Given the description of an element on the screen output the (x, y) to click on. 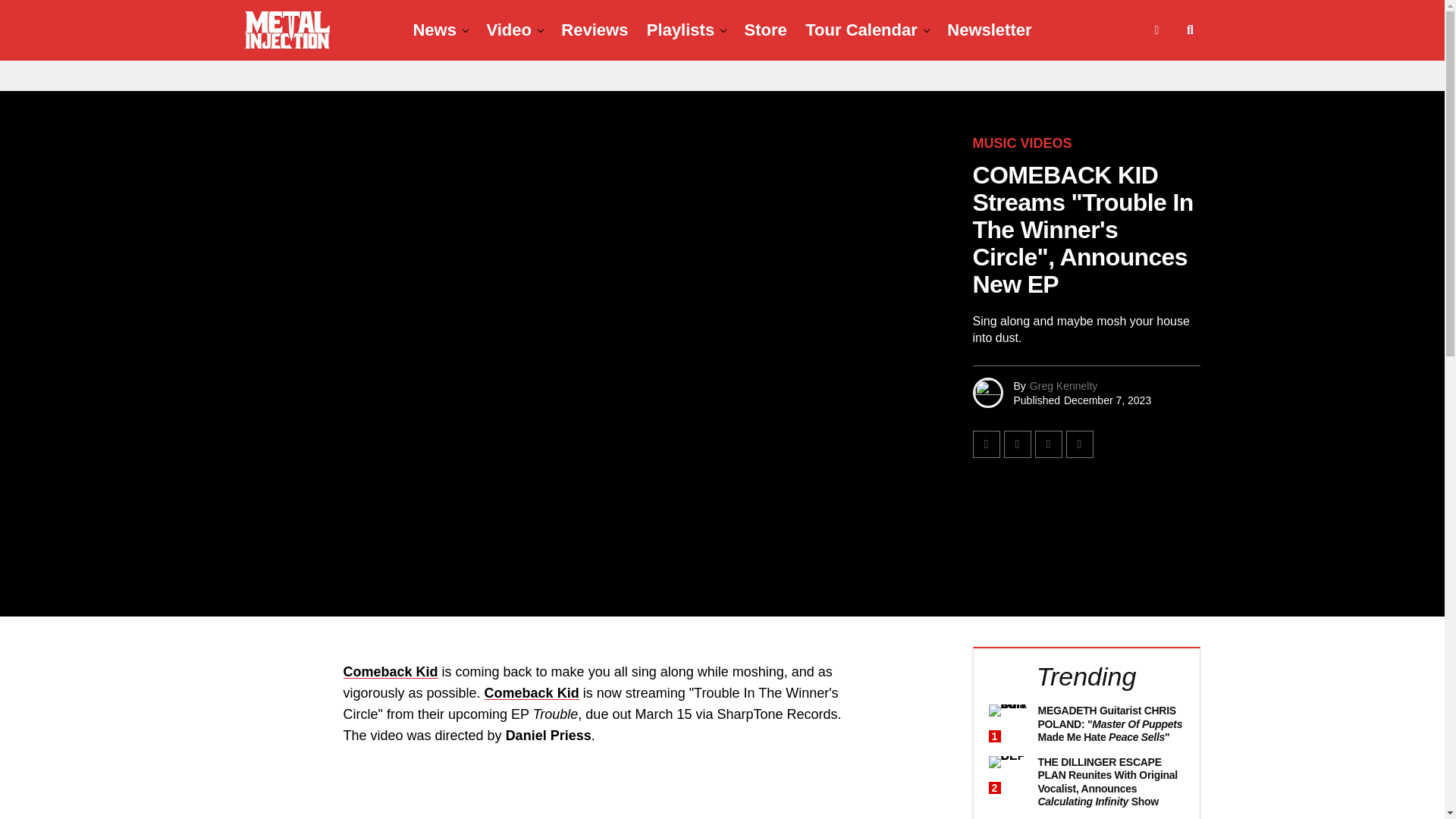
Tweet This Post (1017, 443)
Posts by Greg Kennelty (1063, 385)
Share on Facebook (985, 443)
Share on Flipboard (1047, 443)
